Given the description of an element on the screen output the (x, y) to click on. 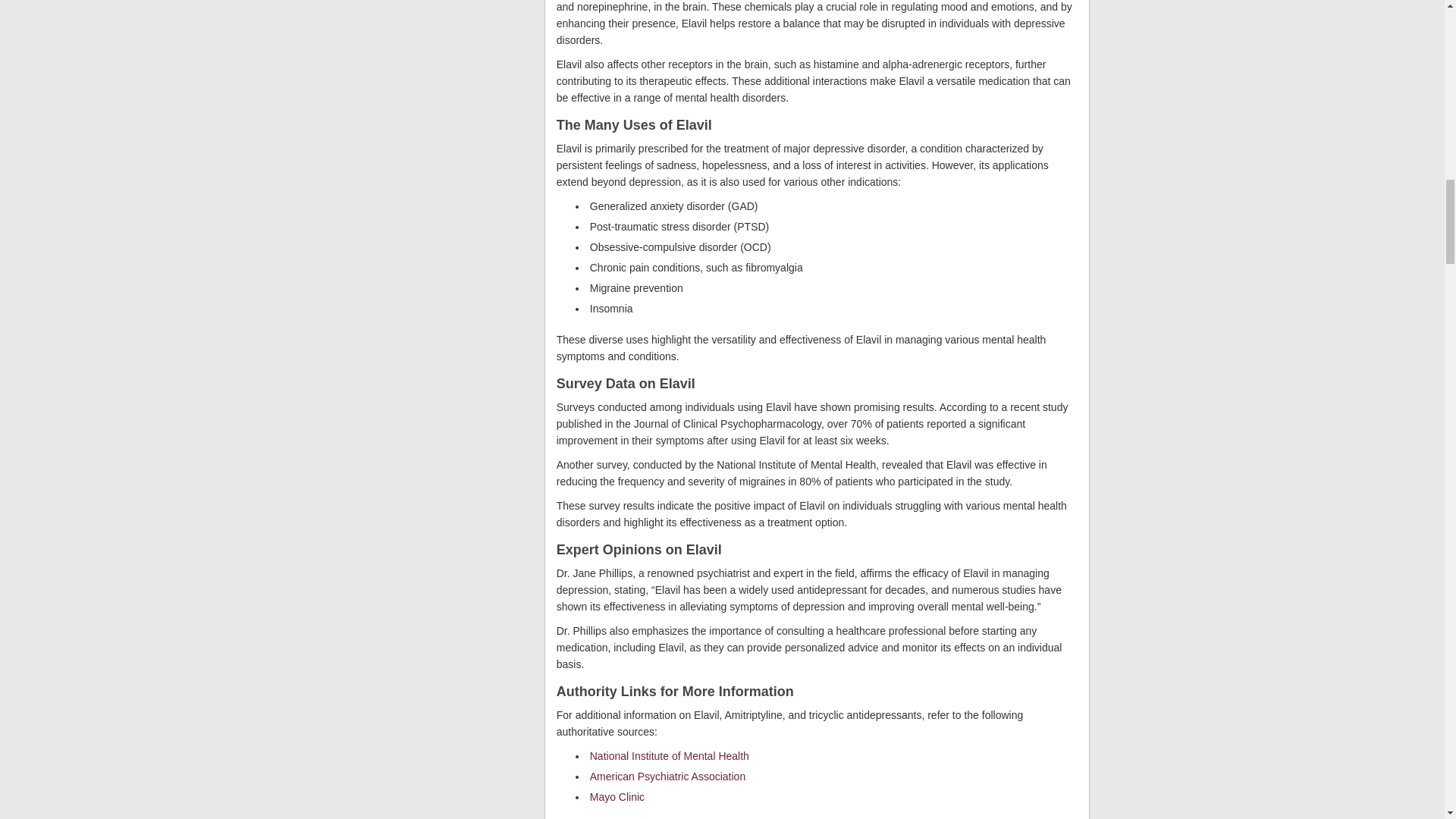
Mayo Clinic (617, 797)
National Institute of Mental Health (669, 756)
American Psychiatric Association (667, 776)
